Given the description of an element on the screen output the (x, y) to click on. 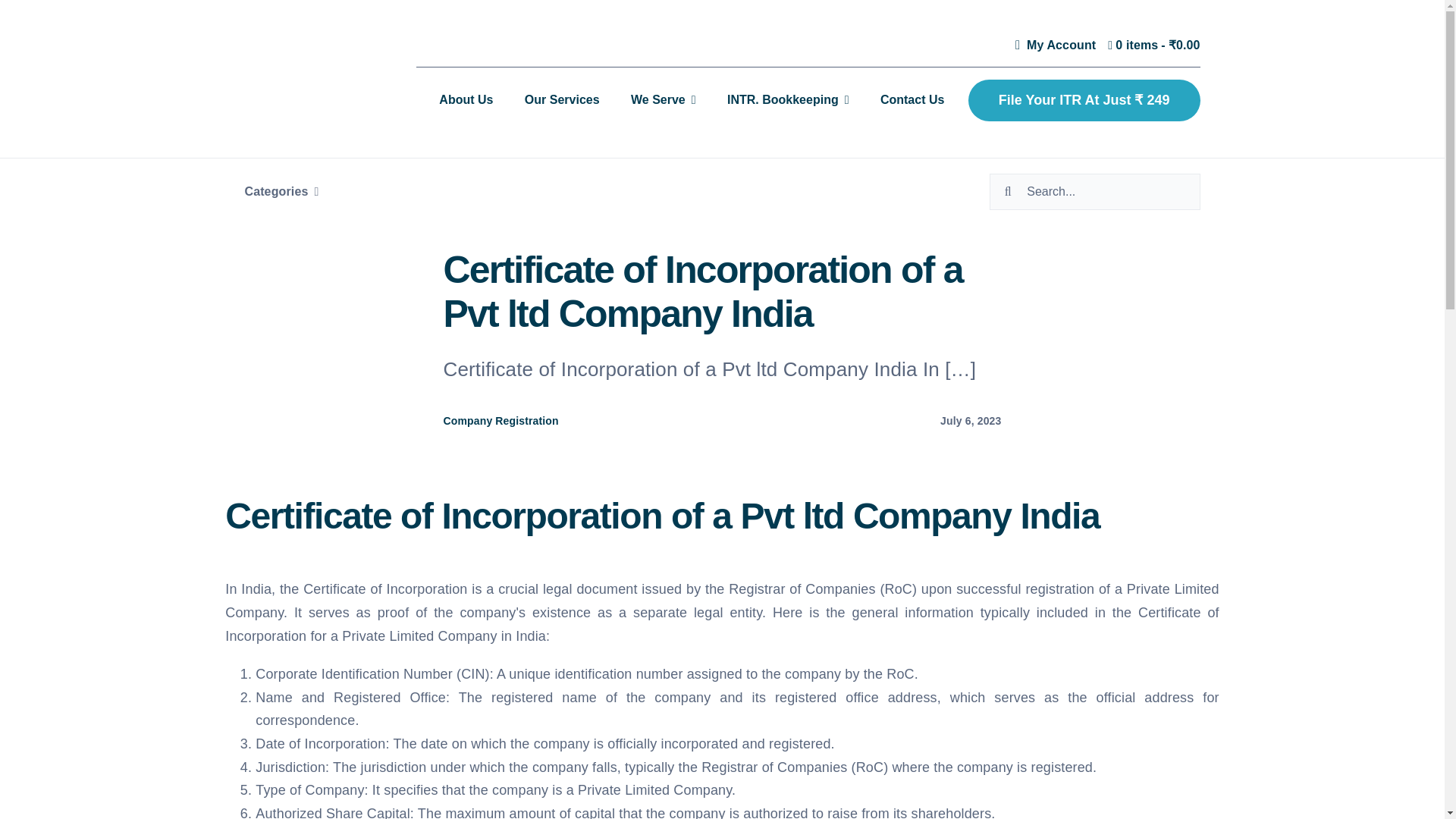
Start shopping (1153, 45)
My Account (1052, 45)
We Serve (663, 100)
Our Services (561, 100)
About Us (465, 100)
Company Registration (501, 420)
